Given the description of an element on the screen output the (x, y) to click on. 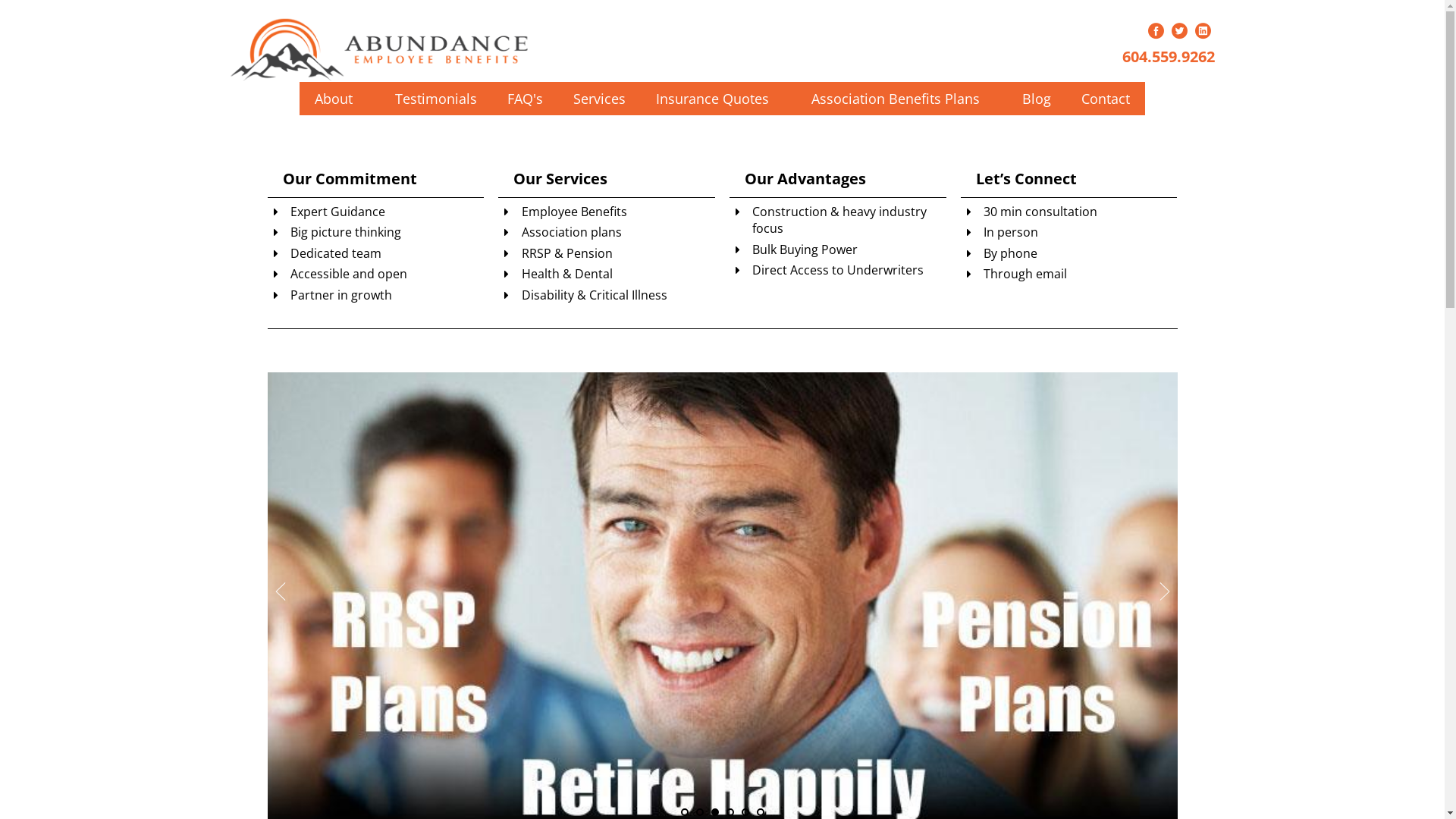
Services Element type: text (599, 98)
4 Element type: text (1203, 30)
Contact Element type: text (1105, 98)
0 Element type: text (1156, 30)
FAQ's Element type: text (525, 98)
2 Element type: text (1179, 30)
Blog Element type: text (1036, 98)
Testimonials Element type: text (435, 98)
